Given the description of an element on the screen output the (x, y) to click on. 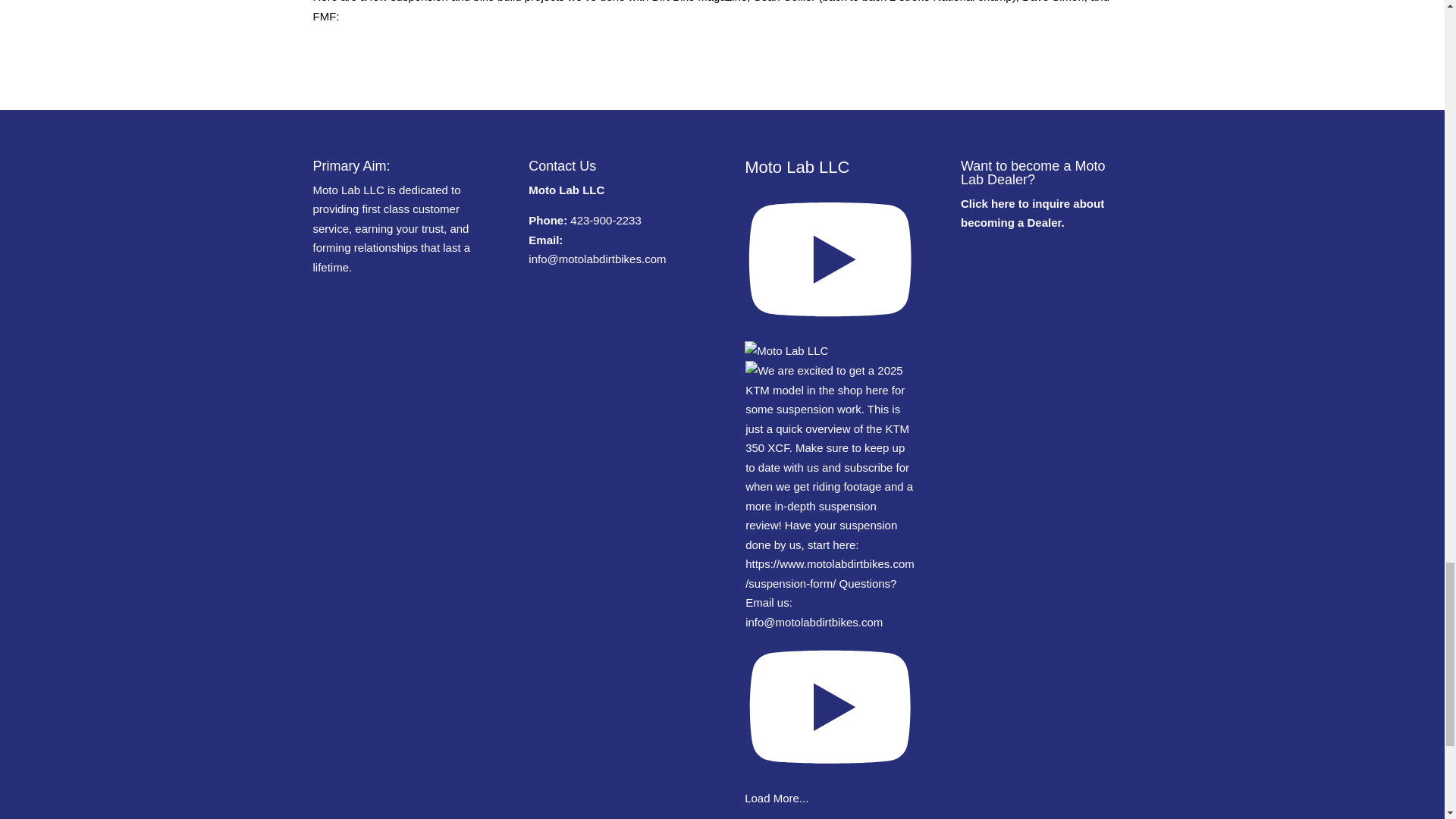
Click here to inquire about becoming a Dealer. (1031, 213)
Moto Lab LLC (829, 259)
Load More... (776, 797)
423-900-2233 (605, 219)
